Given the description of an element on the screen output the (x, y) to click on. 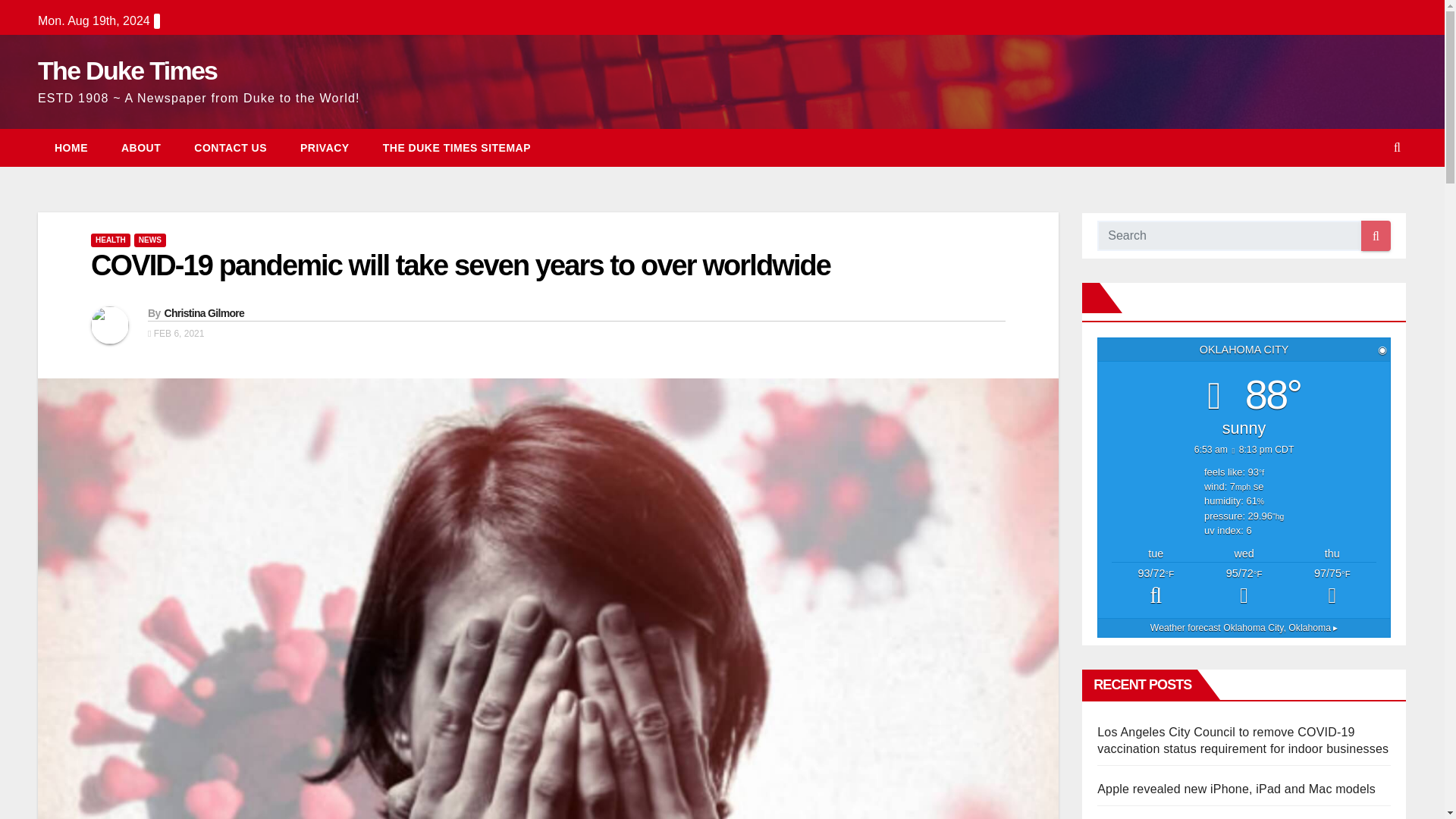
The Duke Times (126, 70)
Mostly Sunny (1331, 587)
Partly Cloudy (1155, 587)
CONTACT US (230, 147)
Sunny (1243, 587)
Home (70, 147)
HOME (70, 147)
ABOUT (140, 147)
Weather Atlas - Weather forecast Oklahoma City, Oklahoma (1244, 627)
